Given the description of an element on the screen output the (x, y) to click on. 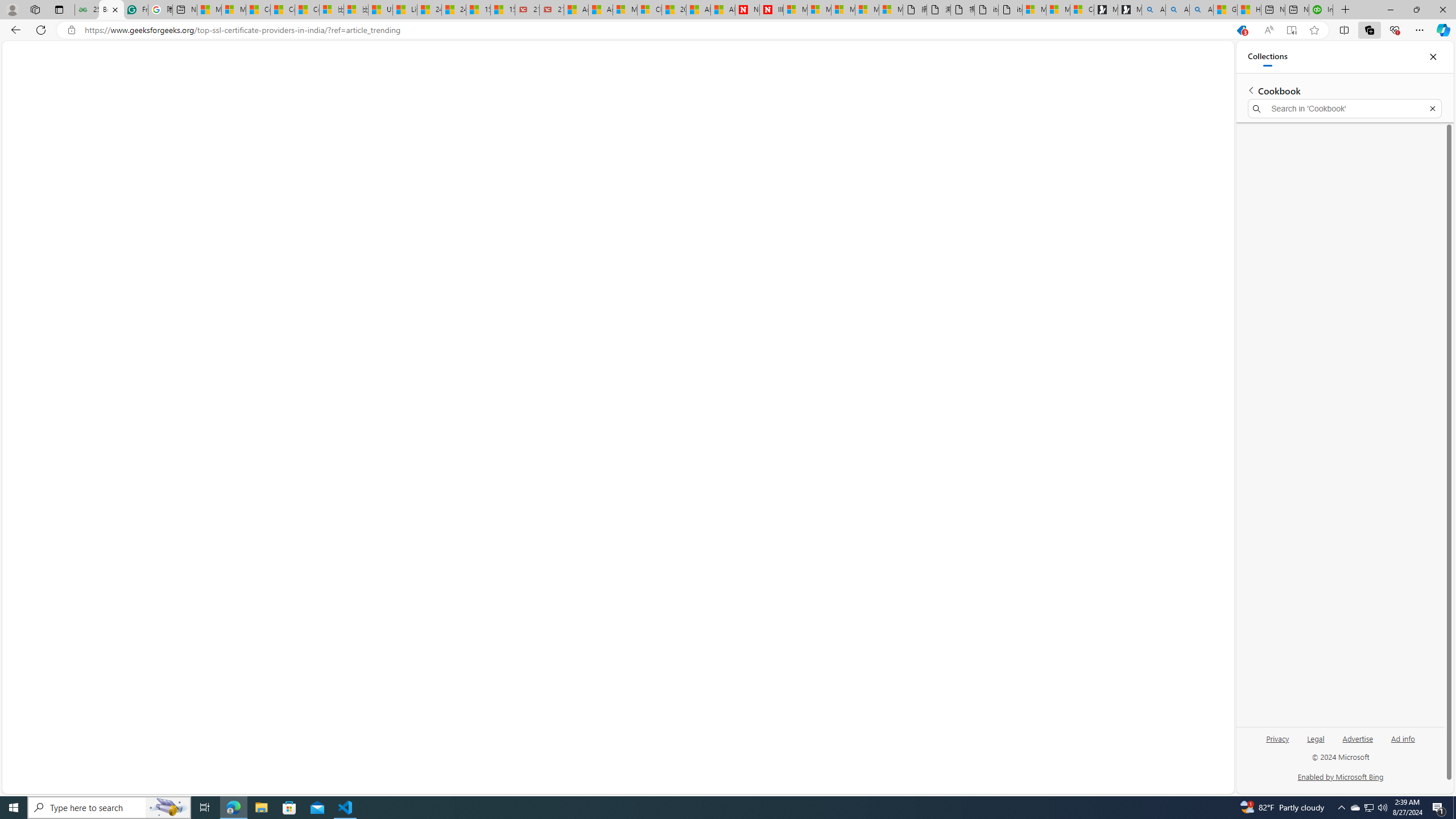
USA TODAY - MSN (380, 9)
Trust badge (site seal) for enhanced credibility. (717, 624)
AI News (475, 79)
Alabama high school quarterback dies - Search Videos (1201, 9)
ChatGPT News (526, 79)
